Given the description of an element on the screen output the (x, y) to click on. 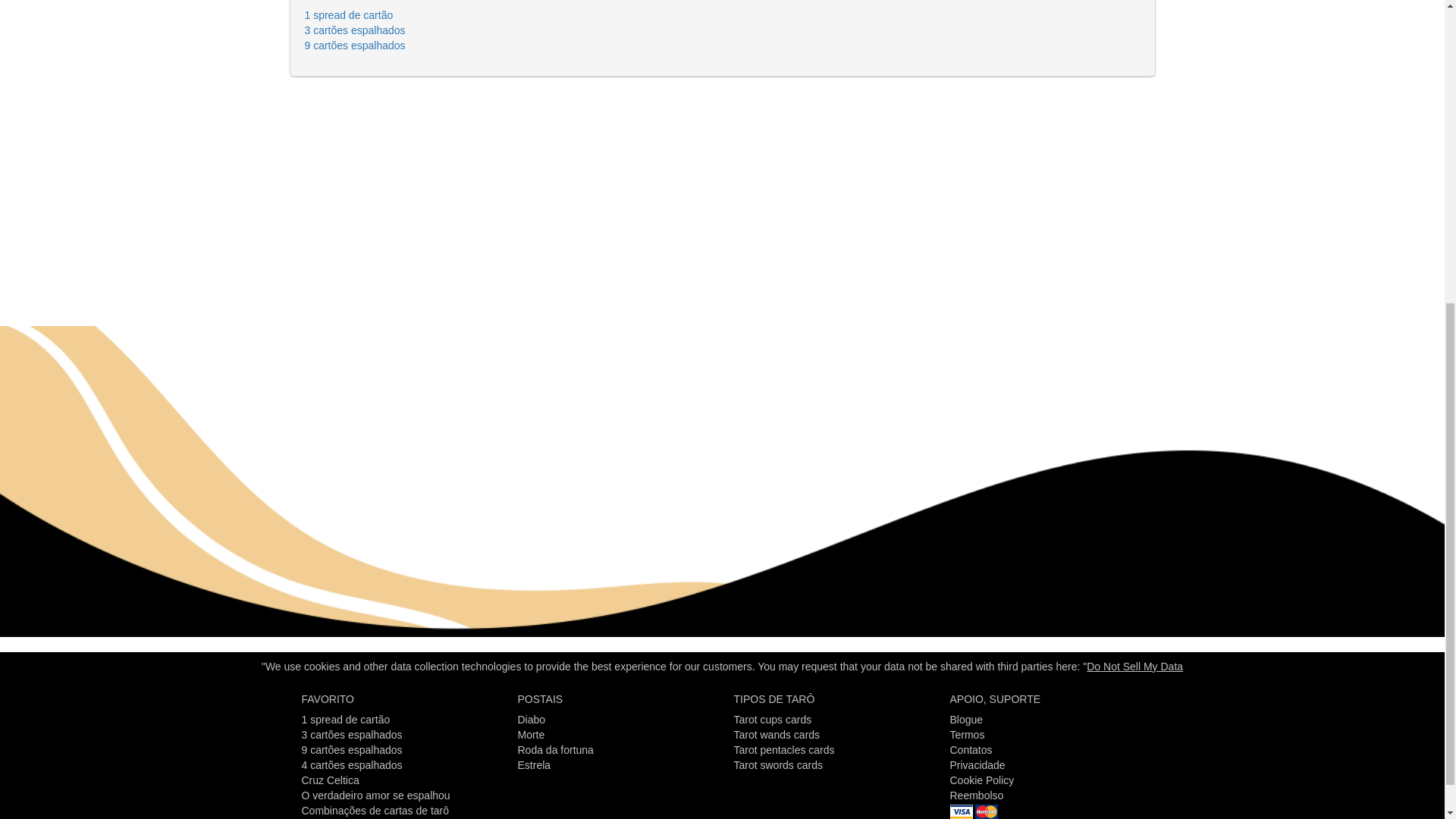
Tarot pentacles cards (783, 749)
Tarot swords cards (777, 765)
Tarot cups cards (772, 719)
Tarot wands cards (777, 734)
